Given the description of an element on the screen output the (x, y) to click on. 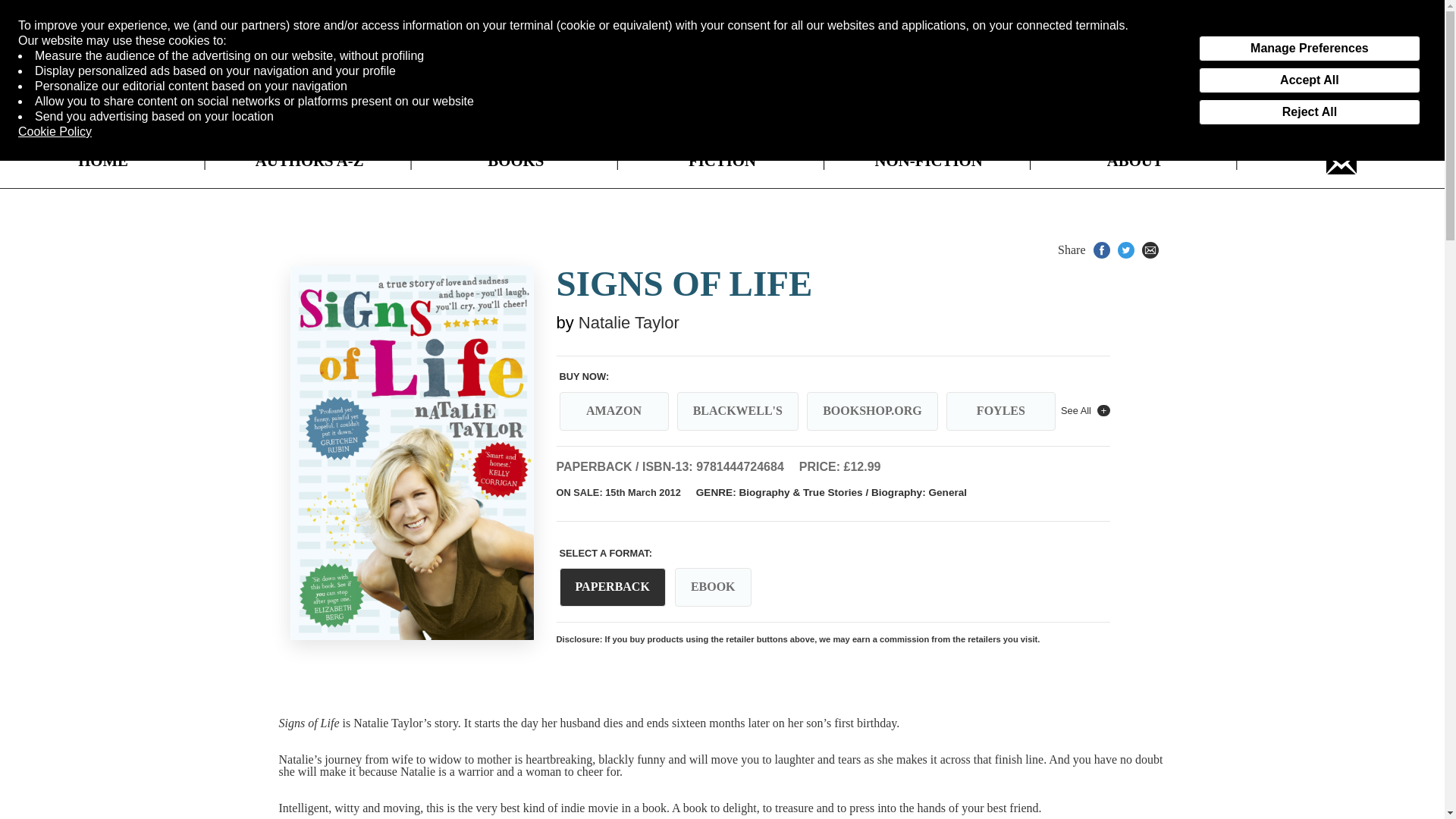
BOOKS (515, 161)
Cookie Policy (54, 131)
BLACKWELL'S (737, 411)
FICTION (721, 161)
NON-FICTION (928, 161)
FOYLES (1000, 411)
HOME (103, 161)
See All (1085, 410)
Manage Preferences (1309, 48)
NEWSLETTER (1340, 161)
